Given the description of an element on the screen output the (x, y) to click on. 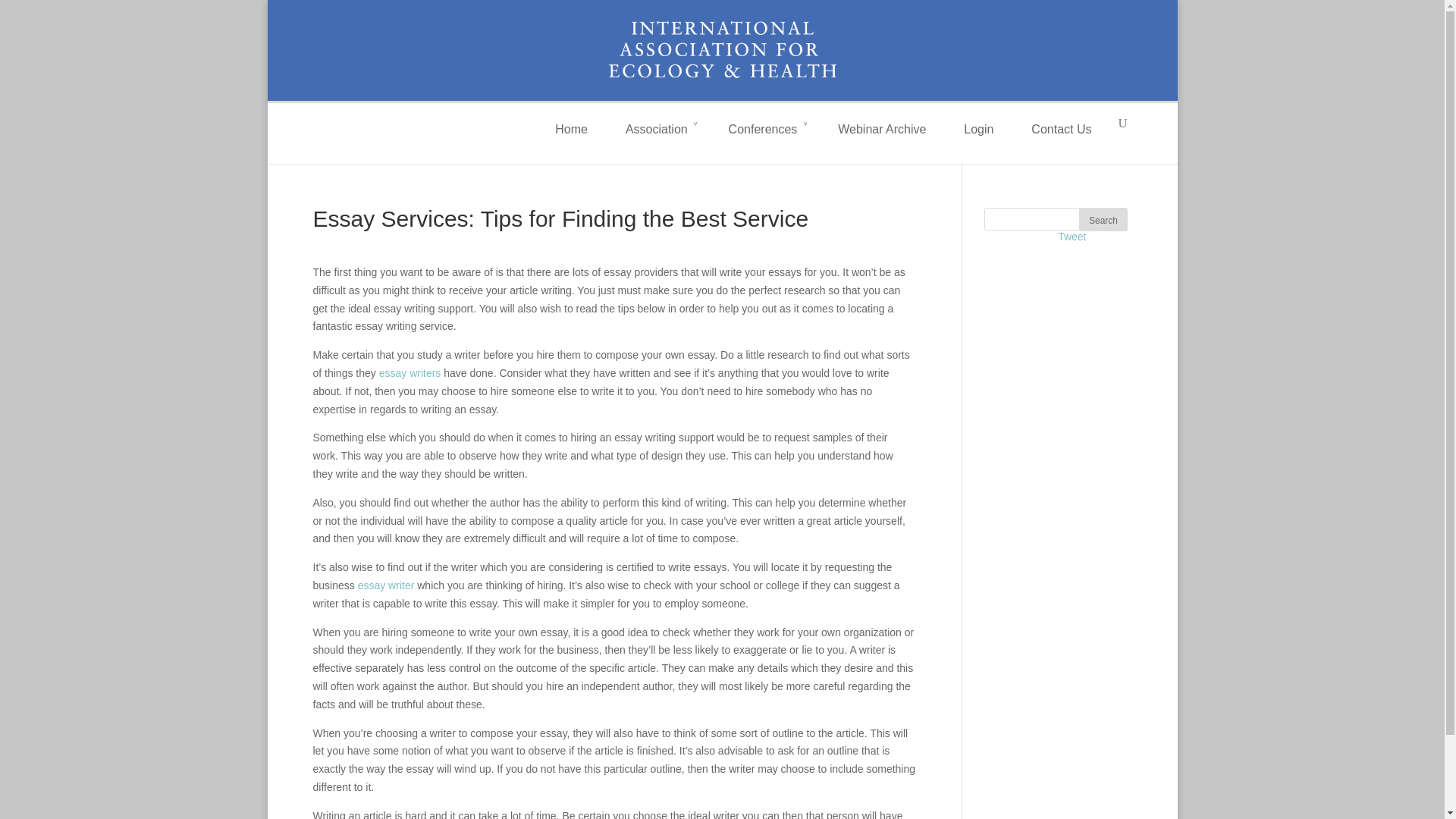
Search (1103, 219)
